Given the description of an element on the screen output the (x, y) to click on. 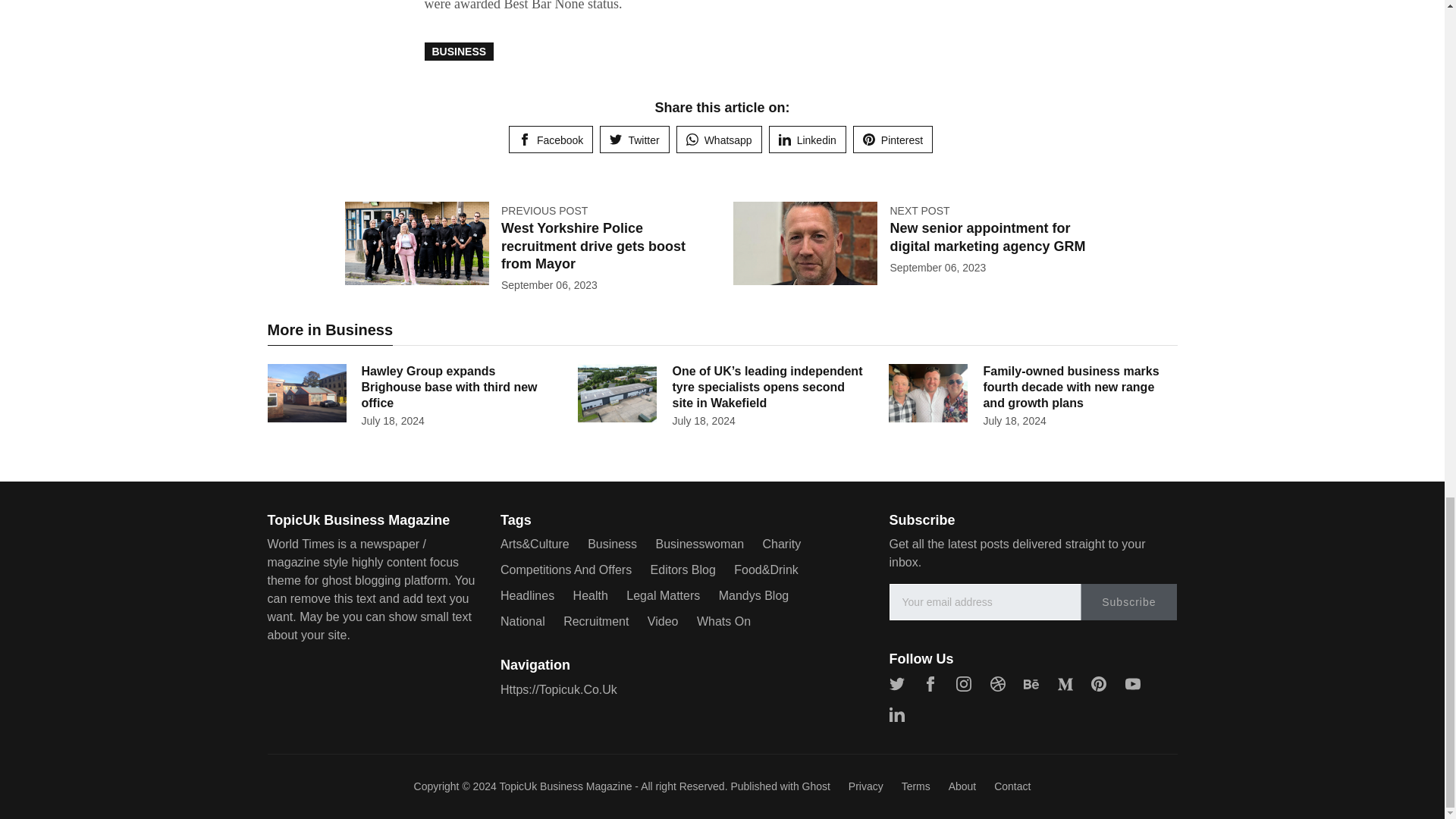
Share on Whatsapp (719, 139)
Share on Pinterest (893, 139)
Share on Facebook (550, 139)
PREVIOUS POST (544, 210)
06 September, 2023 (548, 285)
Whatsapp (719, 139)
18 July, 2024 (1013, 420)
Twitter (633, 139)
Hawley Group expands Brighouse base with third new office (449, 386)
18 July, 2024 (392, 420)
New senior appointment for digital marketing agency GRM (986, 236)
BUSINESS (460, 51)
Linkedin (806, 139)
Share on Twitter (633, 139)
Pinterest (893, 139)
